Given the description of an element on the screen output the (x, y) to click on. 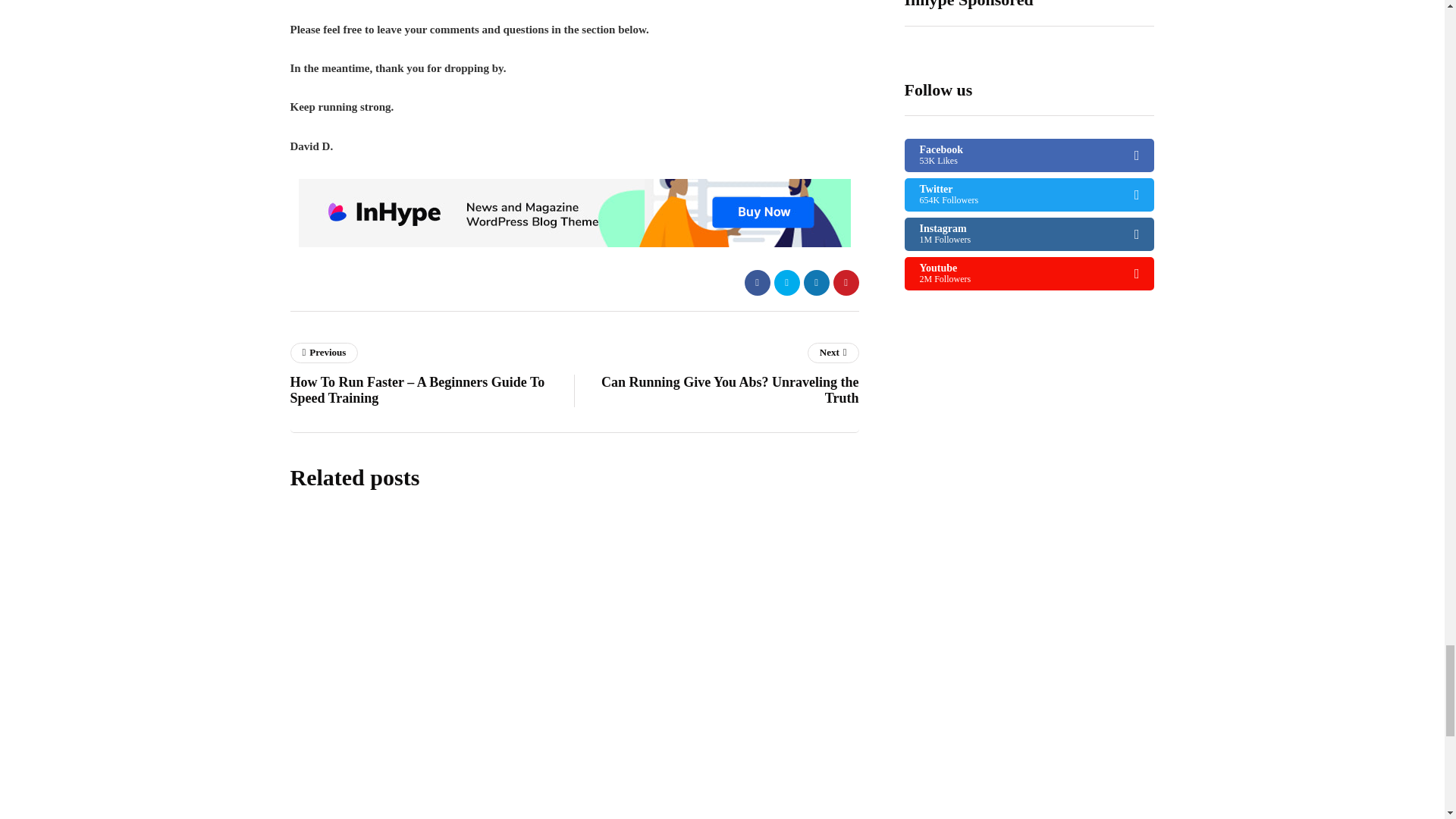
Share with Facebook (757, 282)
Share with LinkedIn (816, 282)
Pin this (845, 282)
Tweet this (786, 282)
